Given the description of an element on the screen output the (x, y) to click on. 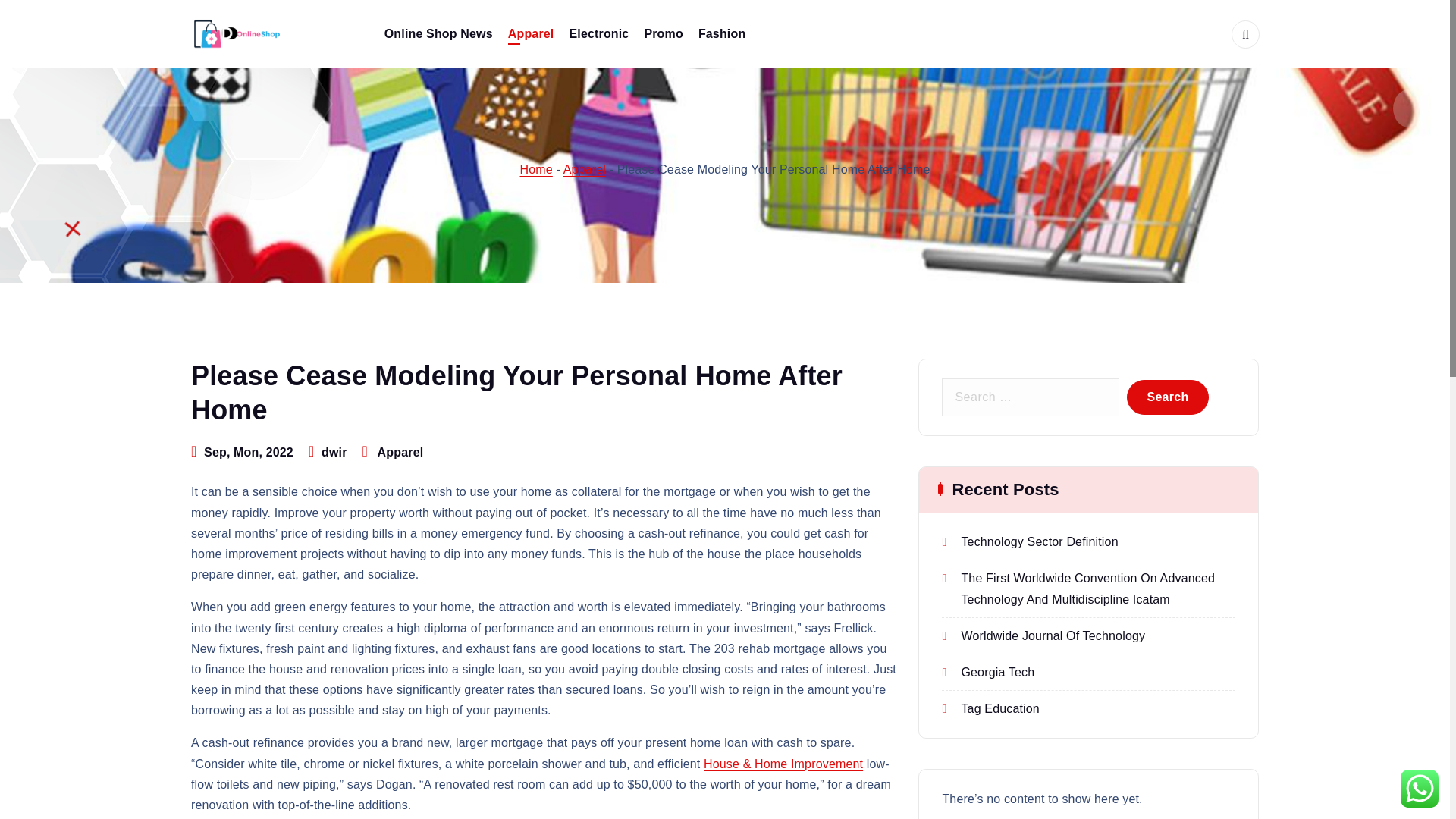
Home (536, 169)
Apparel (584, 169)
Online Shop News (438, 34)
Search (1167, 397)
Electronic (598, 34)
Apparel (531, 34)
Apparel (400, 451)
Promo (662, 34)
Fashion (721, 34)
Technology Sector Definition (1030, 541)
Search (1167, 397)
Electronic (598, 34)
Fashion (721, 34)
dwir (334, 451)
